Given the description of an element on the screen output the (x, y) to click on. 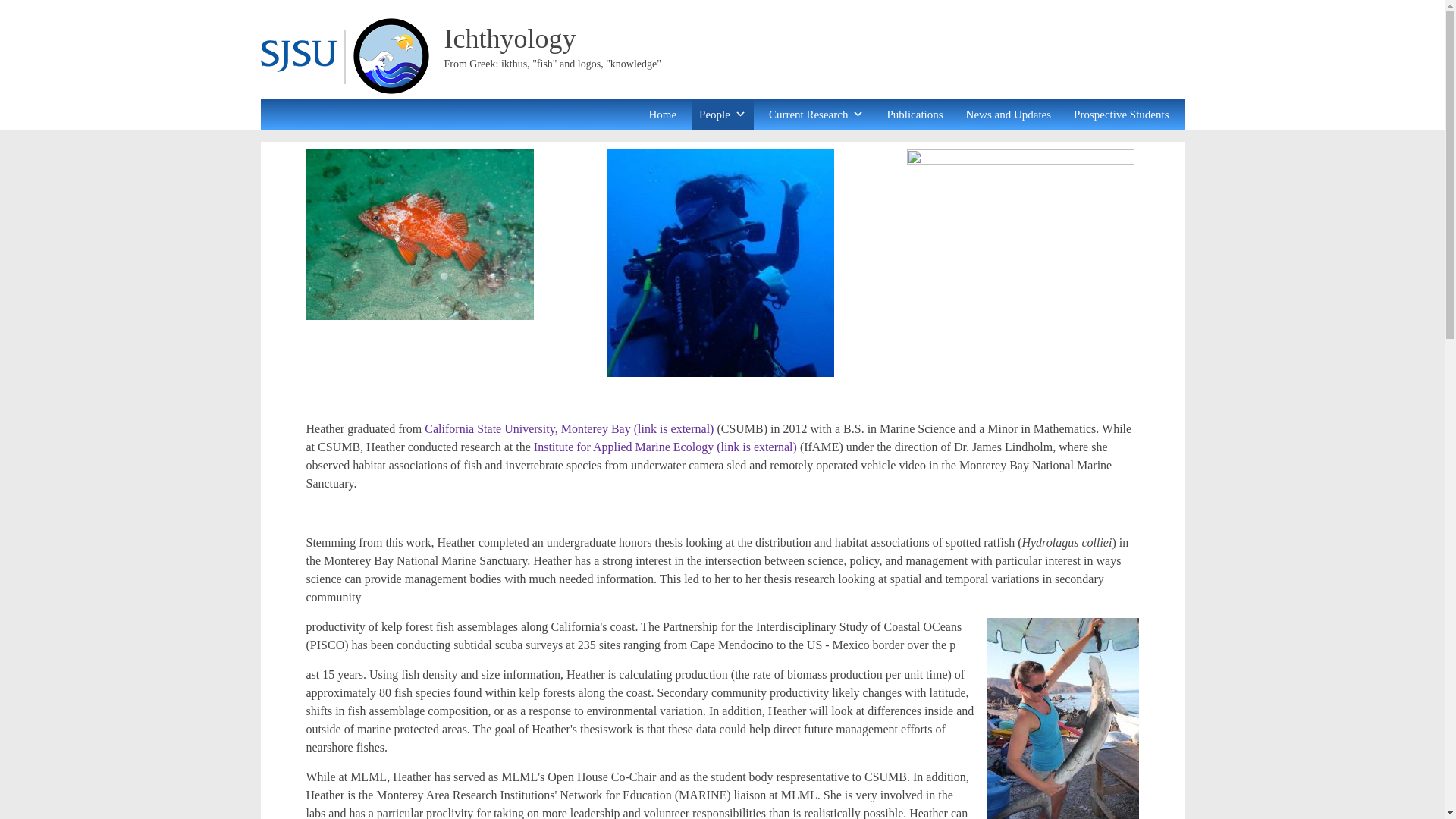
News and Updates (1008, 114)
Current Research (816, 114)
Ichthyology (510, 38)
Ichthyology (510, 38)
People (722, 114)
Home (662, 114)
Prospective Students (1120, 114)
Publications (914, 114)
